Given the description of an element on the screen output the (x, y) to click on. 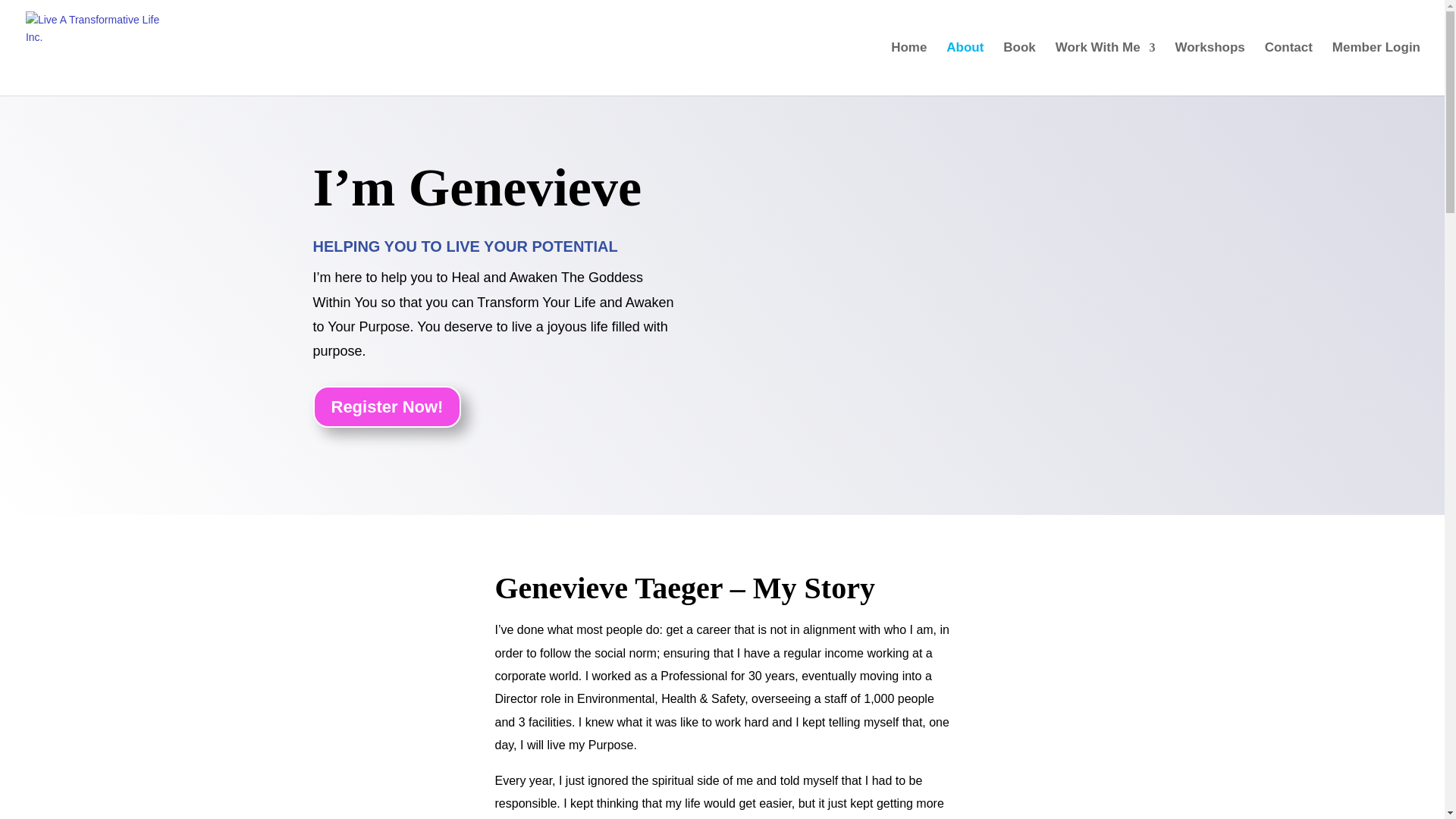
Register Now! (387, 406)
Work With Me (1105, 68)
Contact (1289, 68)
Member Login (1376, 68)
Workshops (1209, 68)
